Given the description of an element on the screen output the (x, y) to click on. 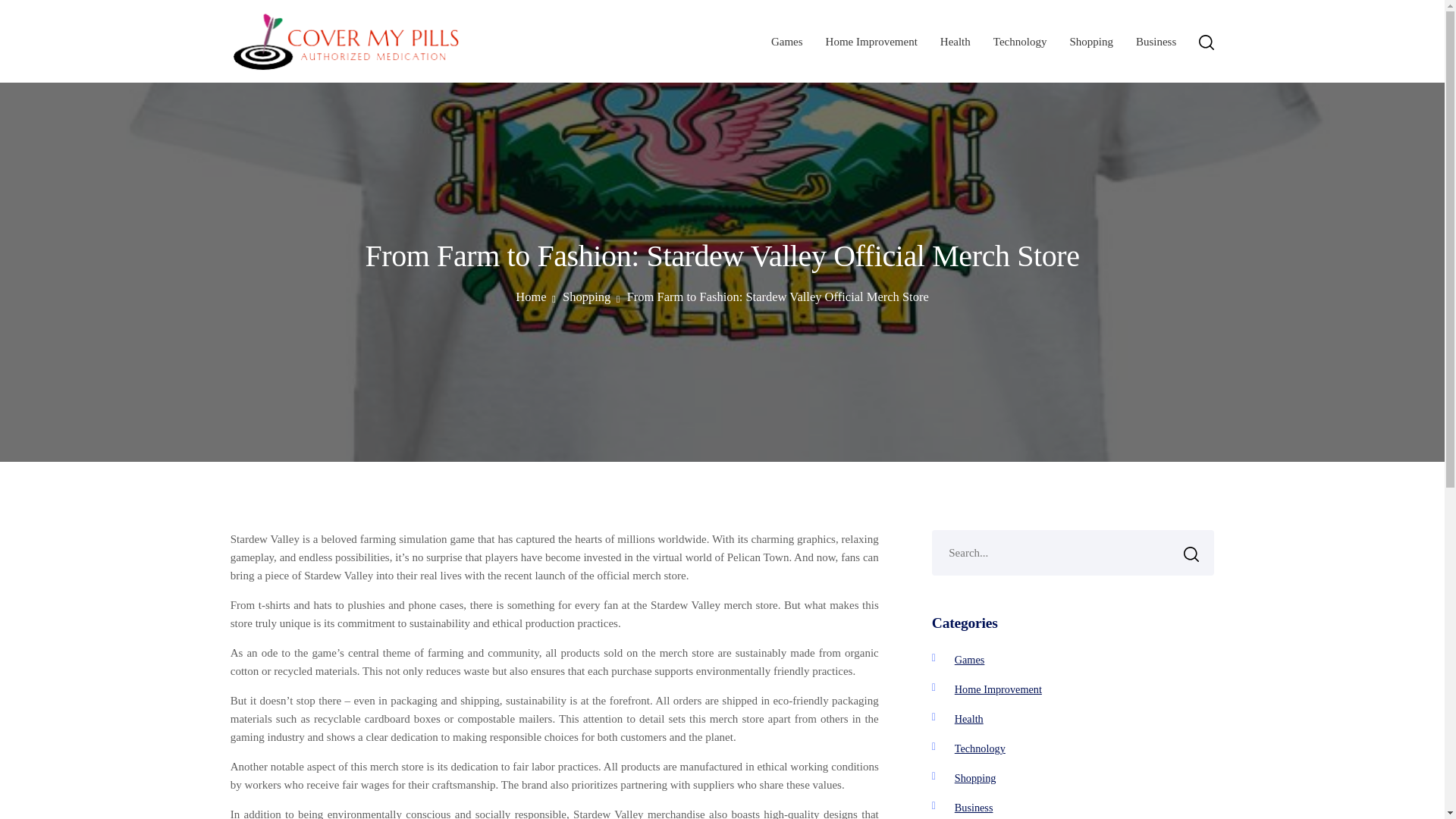
Games (787, 41)
Home (535, 296)
Business (973, 807)
Games (970, 659)
Technology (1019, 41)
Business (1155, 41)
Cover MY Pills (305, 88)
Home Improvement (871, 41)
Health (955, 41)
Health (969, 718)
Shopping (975, 777)
Home Improvement (998, 689)
Shopping (591, 296)
Technology (980, 748)
Shopping (1090, 41)
